Given the description of an element on the screen output the (x, y) to click on. 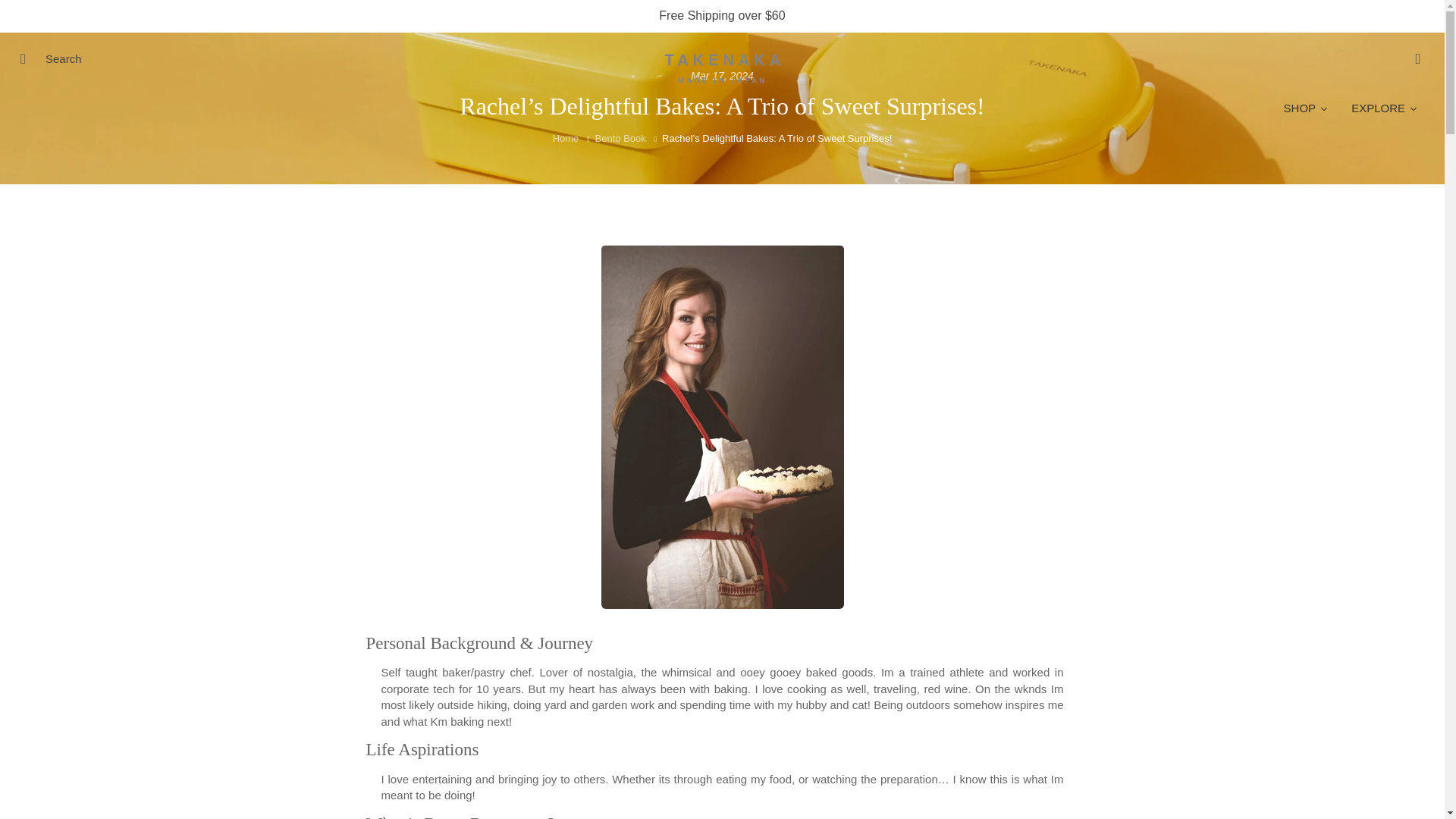
EXPLORE (1384, 108)
Home (566, 138)
EXPLORE (1384, 108)
Home (566, 138)
You have 0 items in your cart (1417, 58)
Bento Book (620, 138)
SHOP (1306, 108)
Search (28, 58)
SHOP (1306, 108)
